Given the description of an element on the screen output the (x, y) to click on. 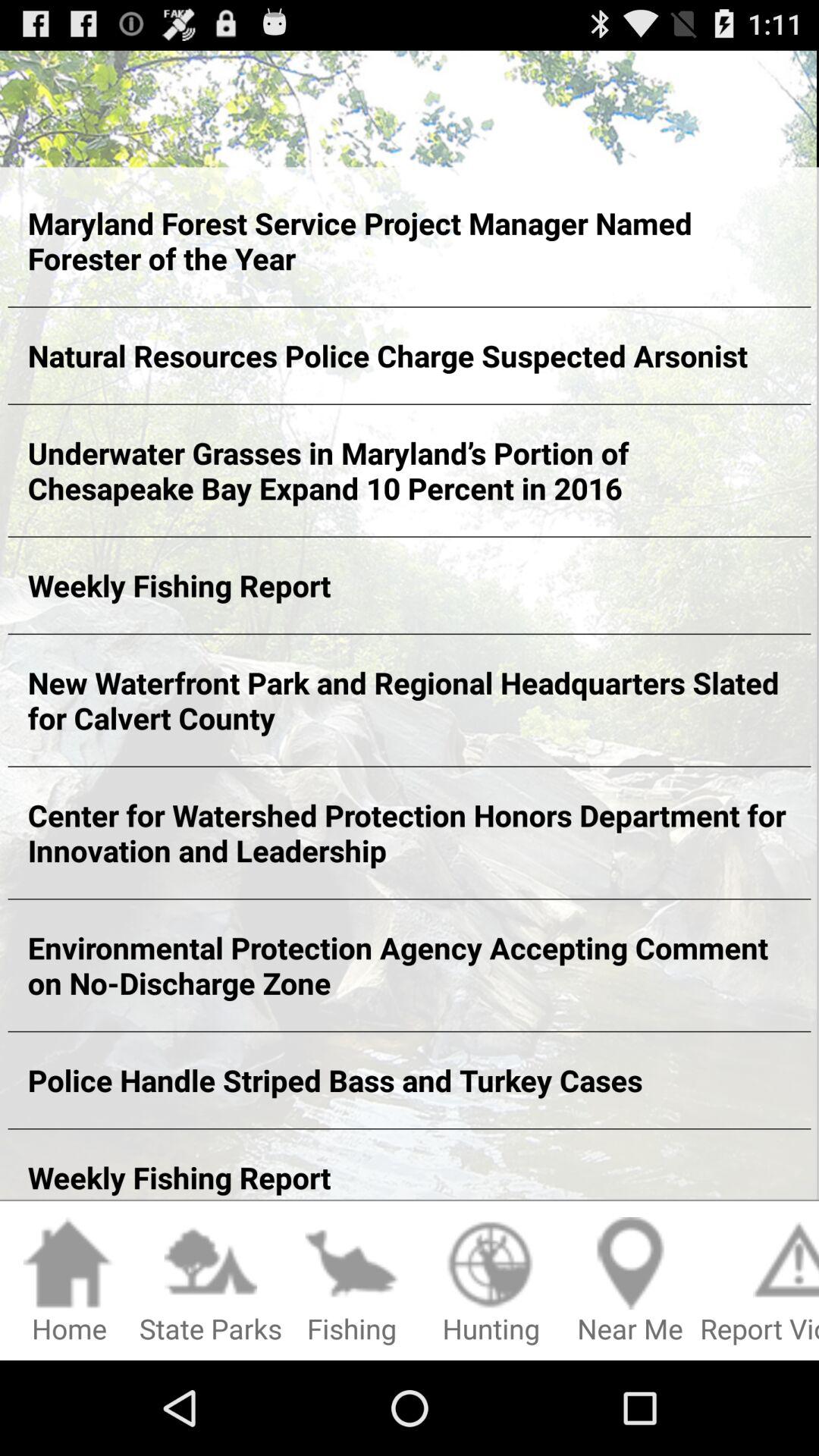
click the item to the right of the near me item (759, 1282)
